Given the description of an element on the screen output the (x, y) to click on. 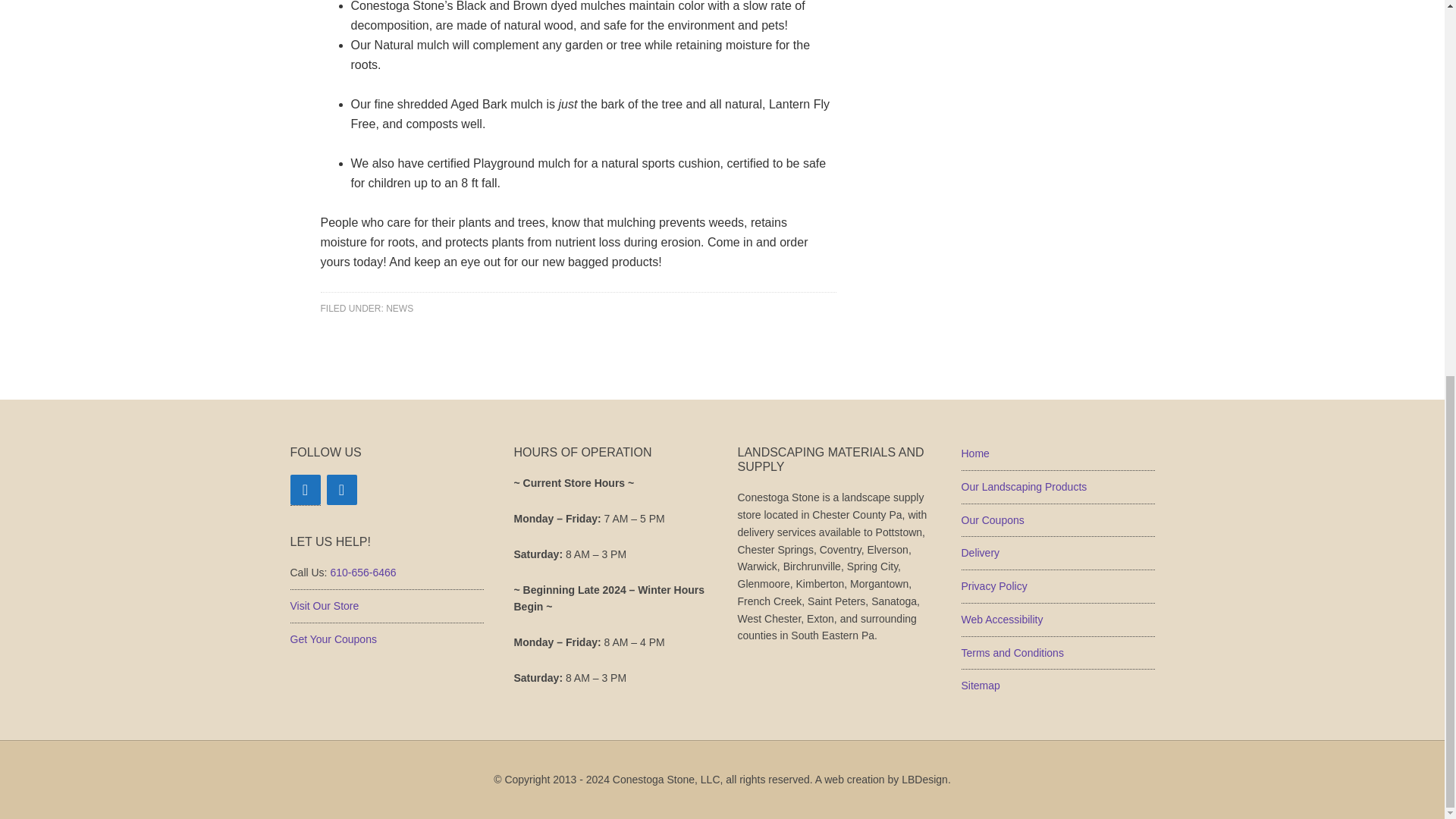
Facebook (304, 490)
NEWS (399, 308)
Visit Our Store (323, 605)
610-656-6466 (363, 572)
Instagram (341, 490)
